Given the description of an element on the screen output the (x, y) to click on. 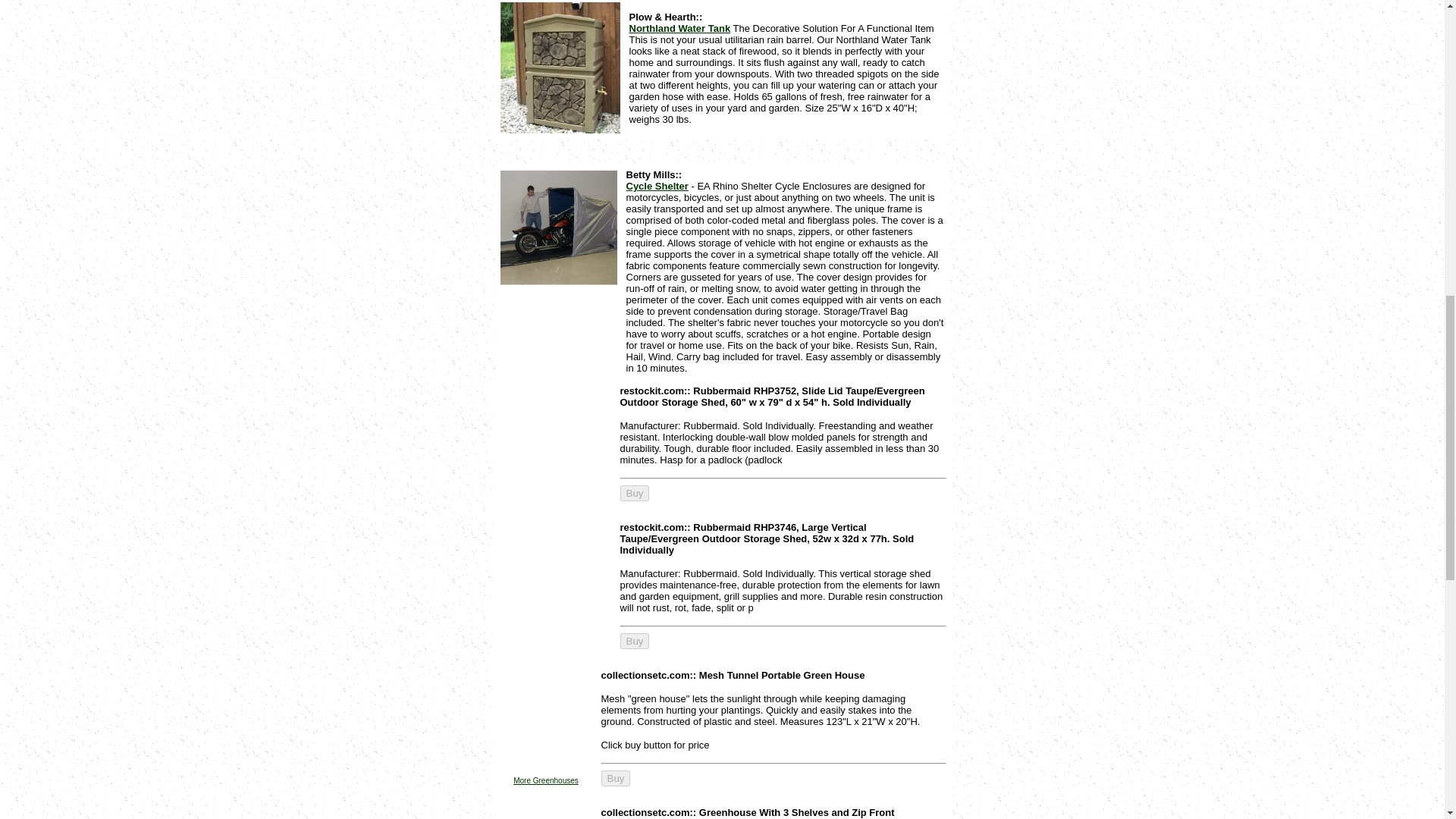
More Greenhouses (545, 780)
Buy (634, 641)
Buy (634, 641)
Buy (634, 493)
Buy (634, 493)
Buy (614, 778)
Buy (614, 778)
Northland Water Tank (679, 28)
Cycle Shelter (657, 185)
